Given the description of an element on the screen output the (x, y) to click on. 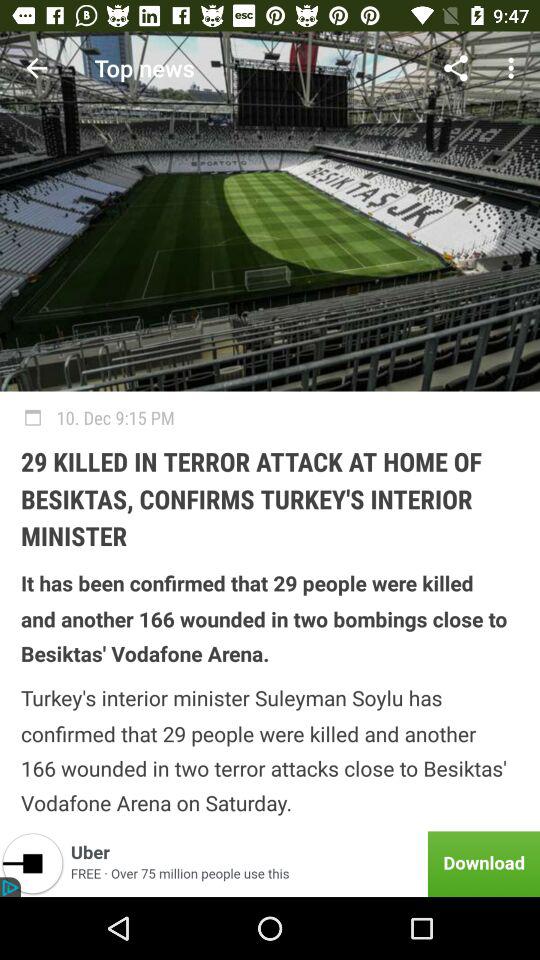
turn on the icon to the right of top news (455, 67)
